Given the description of an element on the screen output the (x, y) to click on. 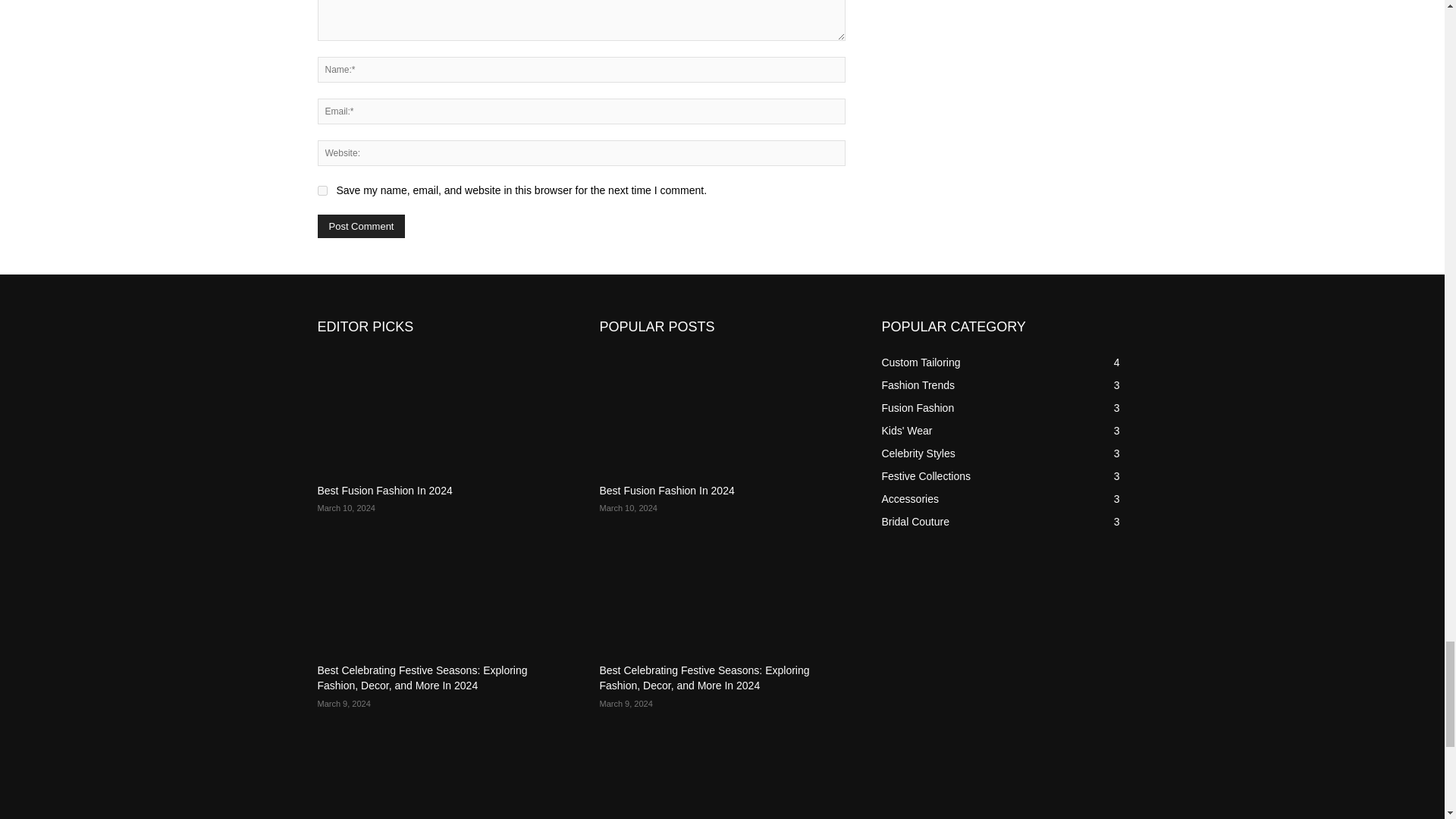
yes (321, 190)
Post Comment (360, 226)
